Given the description of an element on the screen output the (x, y) to click on. 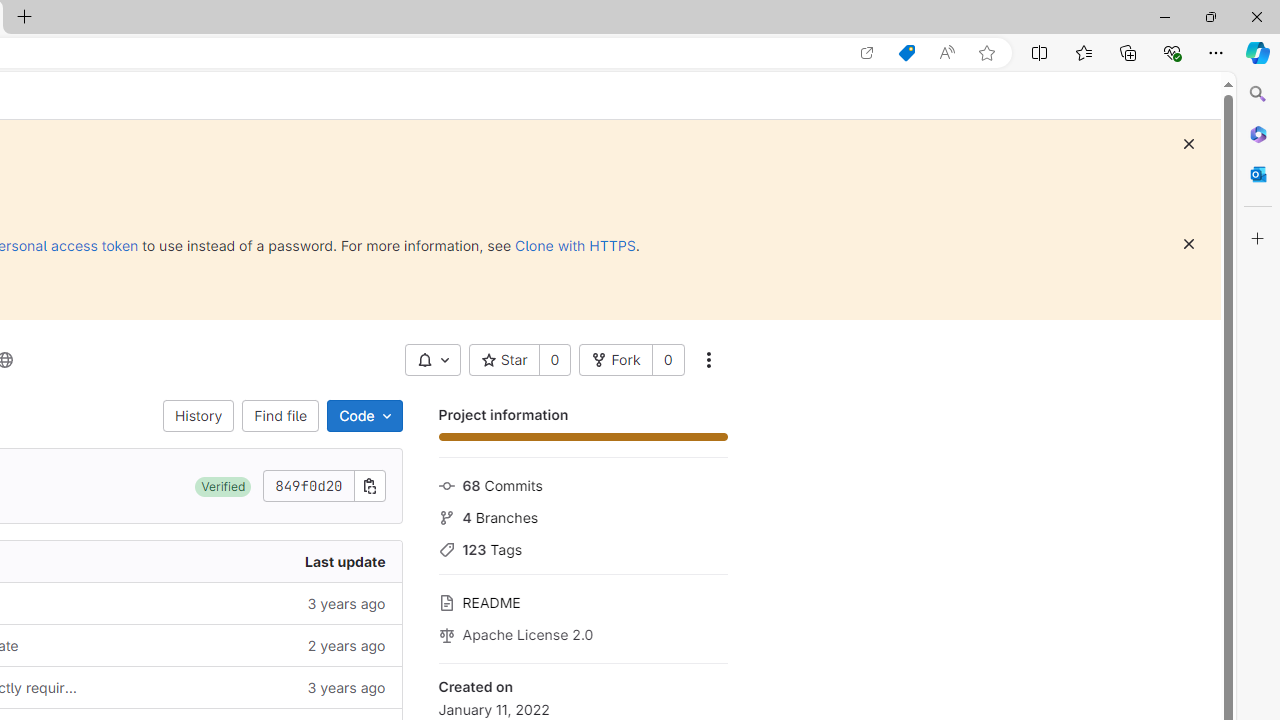
AutomationID: __BVID__303__BV_toggle_ (432, 359)
3 years ago (247, 687)
Verified (223, 485)
123 Tags (582, 548)
Class: s16 icon gl-mr-3 gl-text-gray-500 (445, 634)
Open in app (867, 53)
Last update (247, 561)
